Given the description of an element on the screen output the (x, y) to click on. 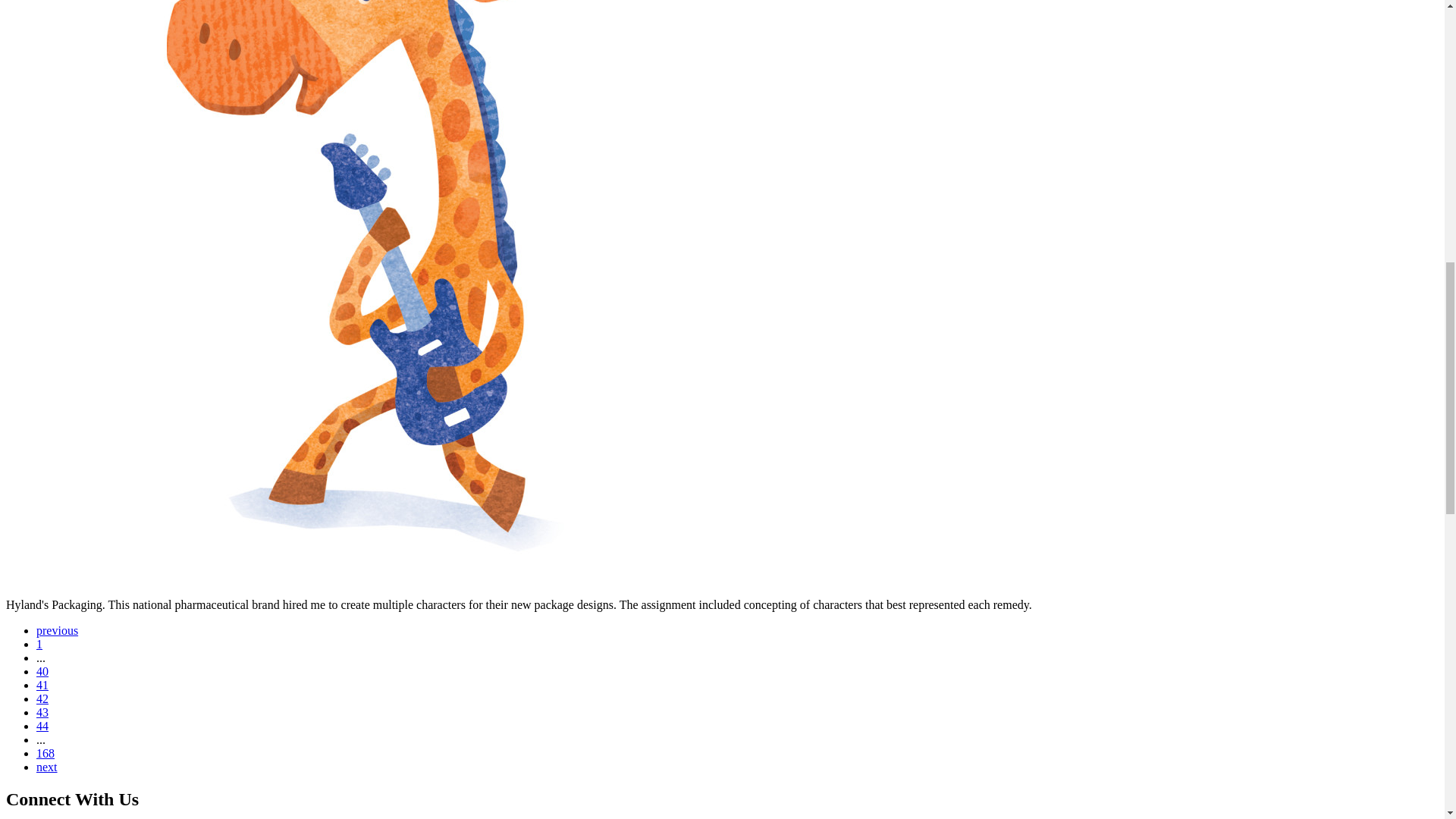
previous (57, 630)
41 (42, 684)
1 (39, 644)
42 (42, 698)
40 (42, 671)
